Given the description of an element on the screen output the (x, y) to click on. 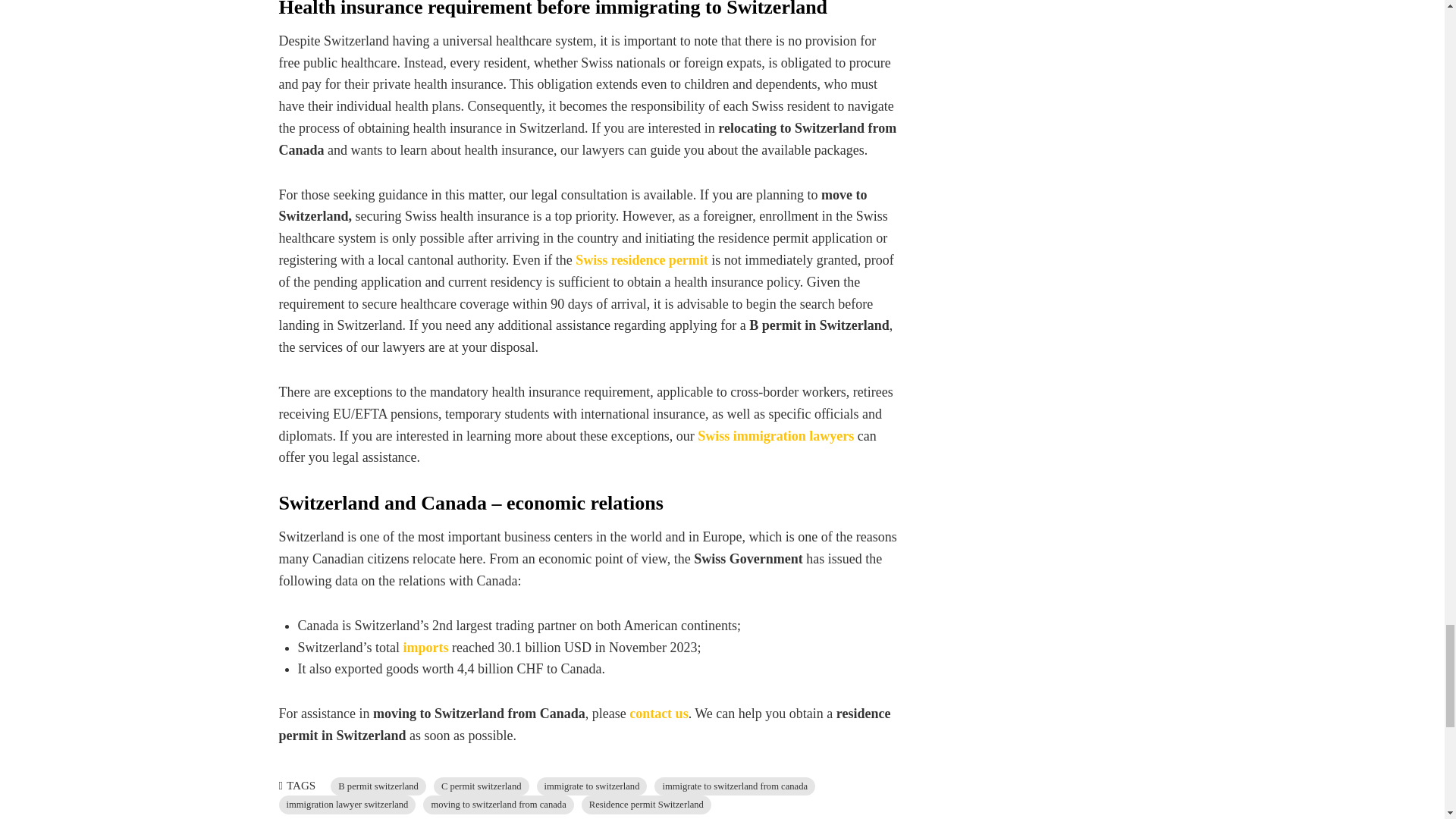
Swiss residence permit (641, 259)
Swiss immigration lawyers  (777, 435)
imports (425, 647)
